Given the description of an element on the screen output the (x, y) to click on. 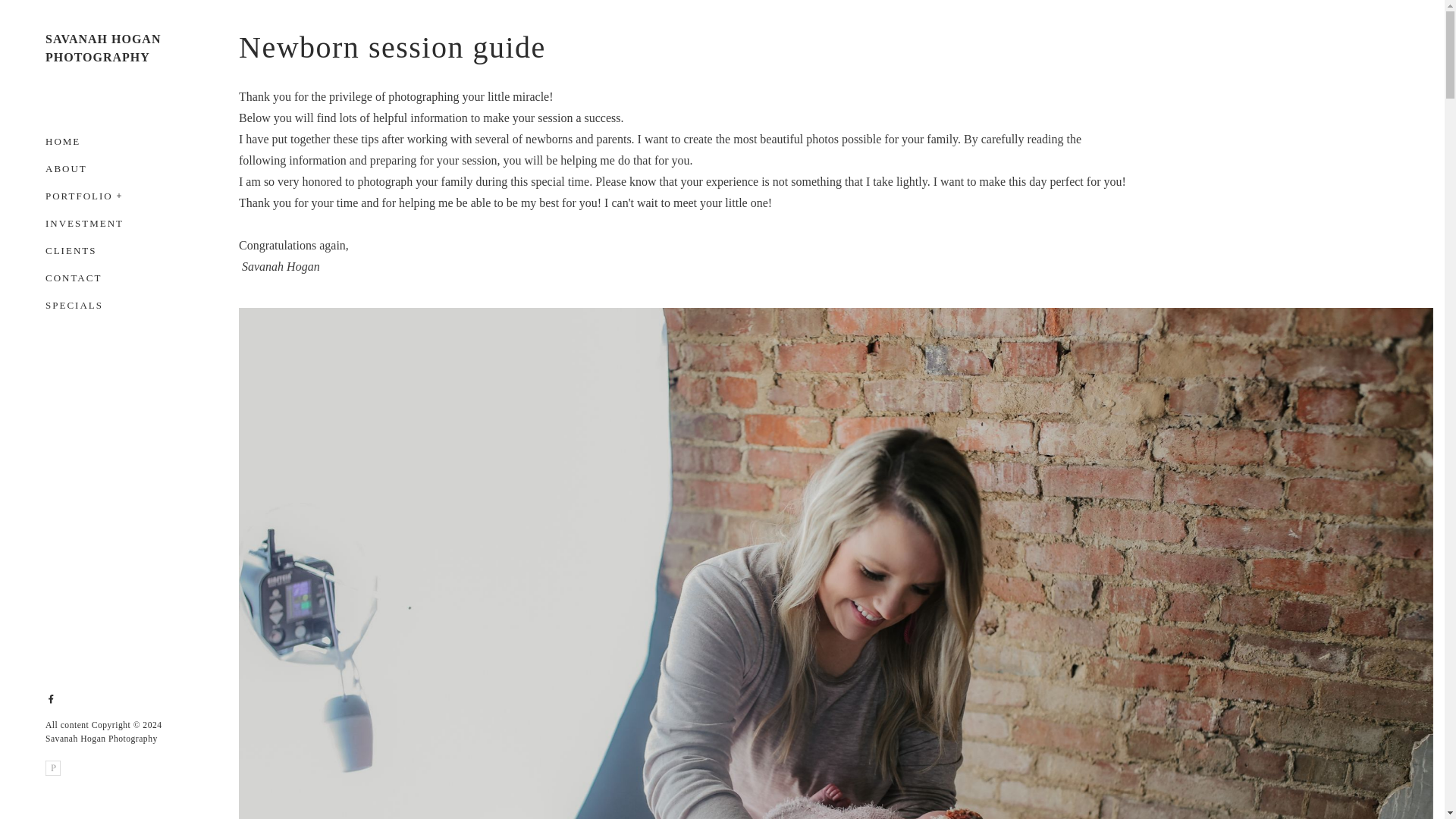
SPECIALS (74, 301)
PORTFOLIO (79, 195)
CONTACT (73, 277)
HOME (62, 144)
ABOUT (66, 168)
INVESTMENT (84, 222)
CLIENTS (70, 250)
SAVANAH HOGAN PHOTOGRAPHY (113, 48)
